Given the description of an element on the screen output the (x, y) to click on. 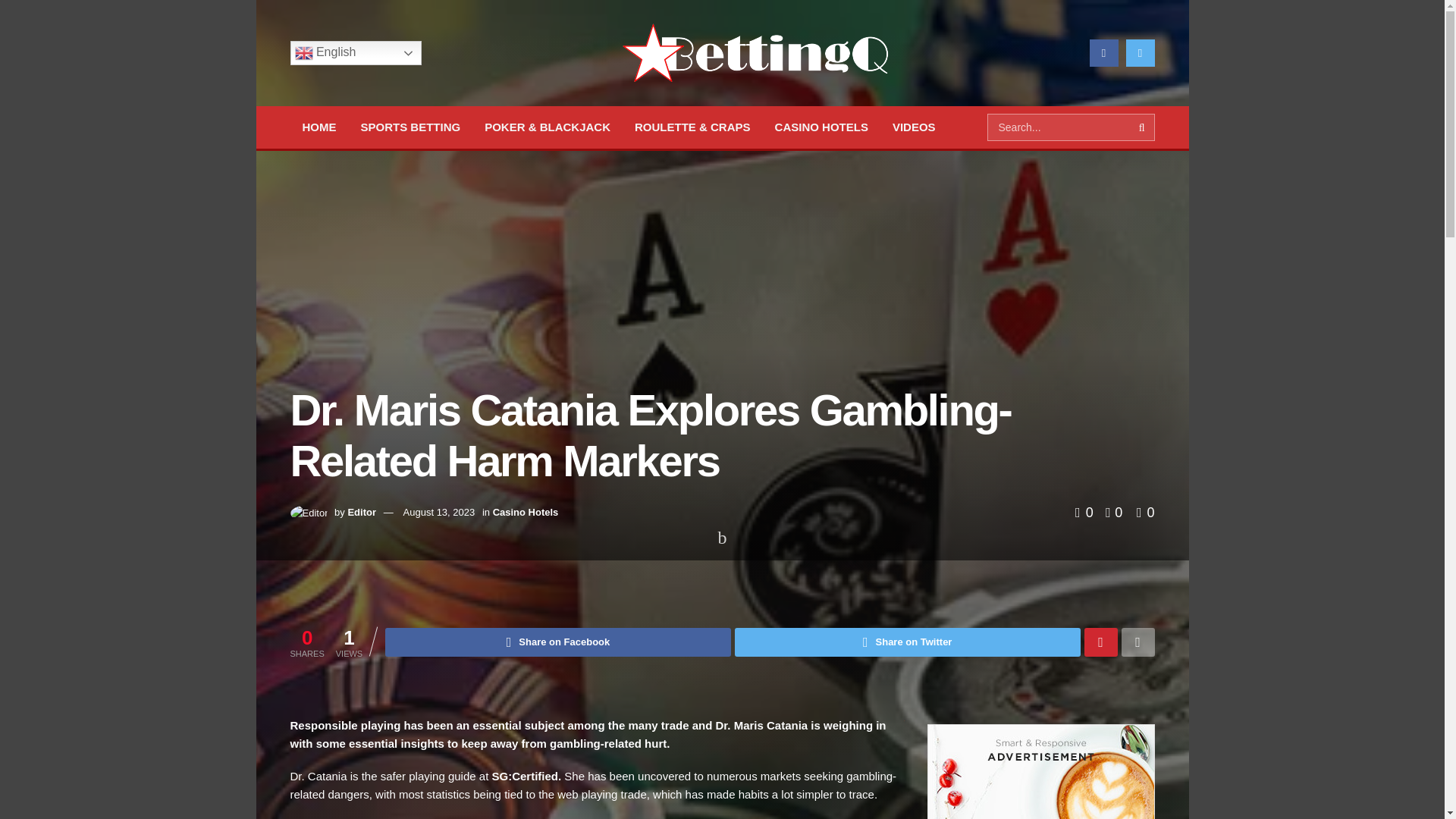
English (354, 52)
VIDEOS (913, 127)
Editor (361, 511)
Casino Hotels (526, 511)
CASINO HOTELS (821, 127)
Casino Hotels (355, 574)
HOME (318, 127)
0 (1145, 512)
SPORTS BETTING (411, 127)
0 (1086, 512)
